Given the description of an element on the screen output the (x, y) to click on. 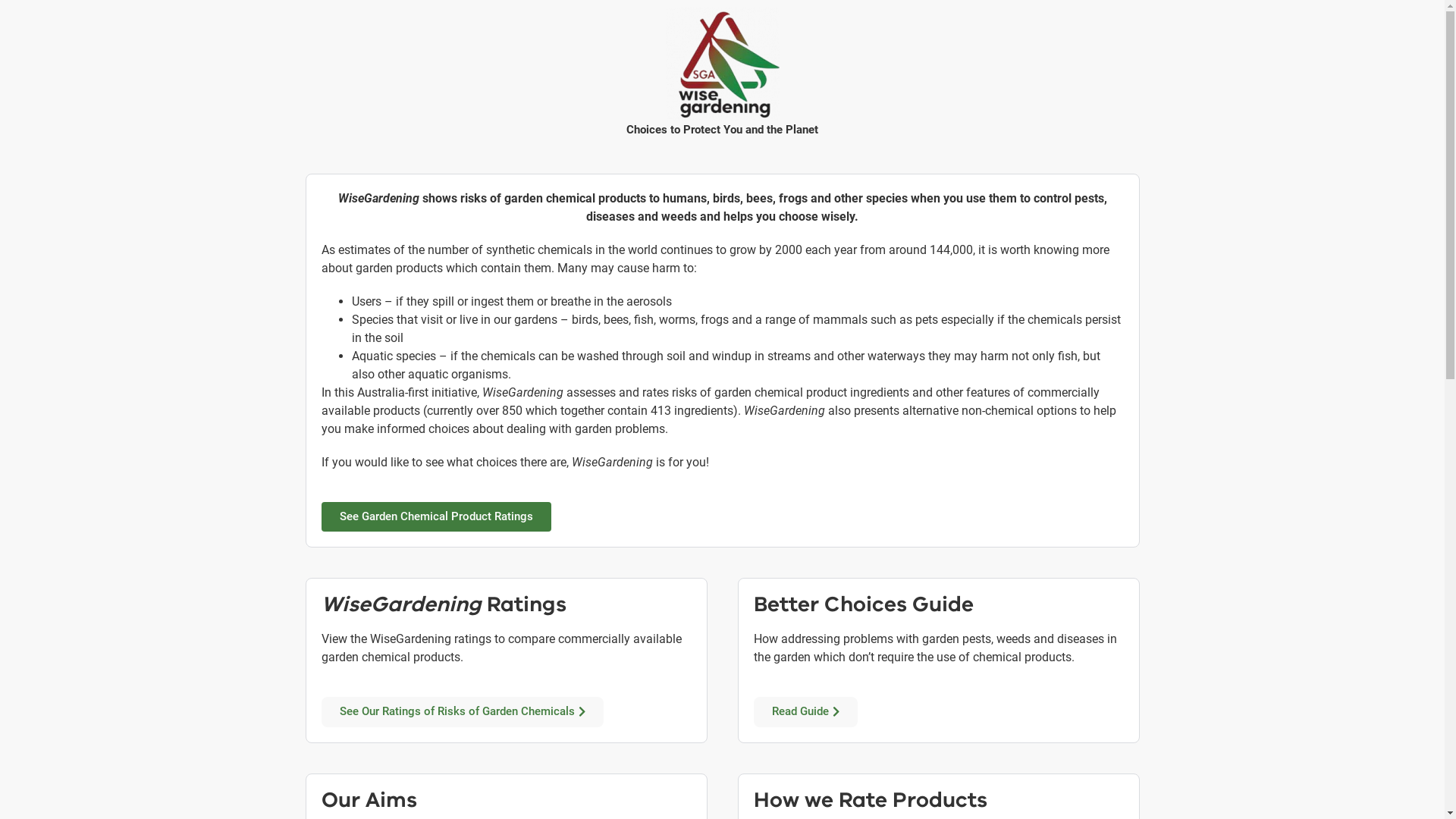
Read Guide Element type: text (805, 711)
See Our Ratings of Risks of Garden Chemicals Element type: text (462, 711)
See Garden Chemical Product Ratings Element type: text (436, 516)
